Given the description of an element on the screen output the (x, y) to click on. 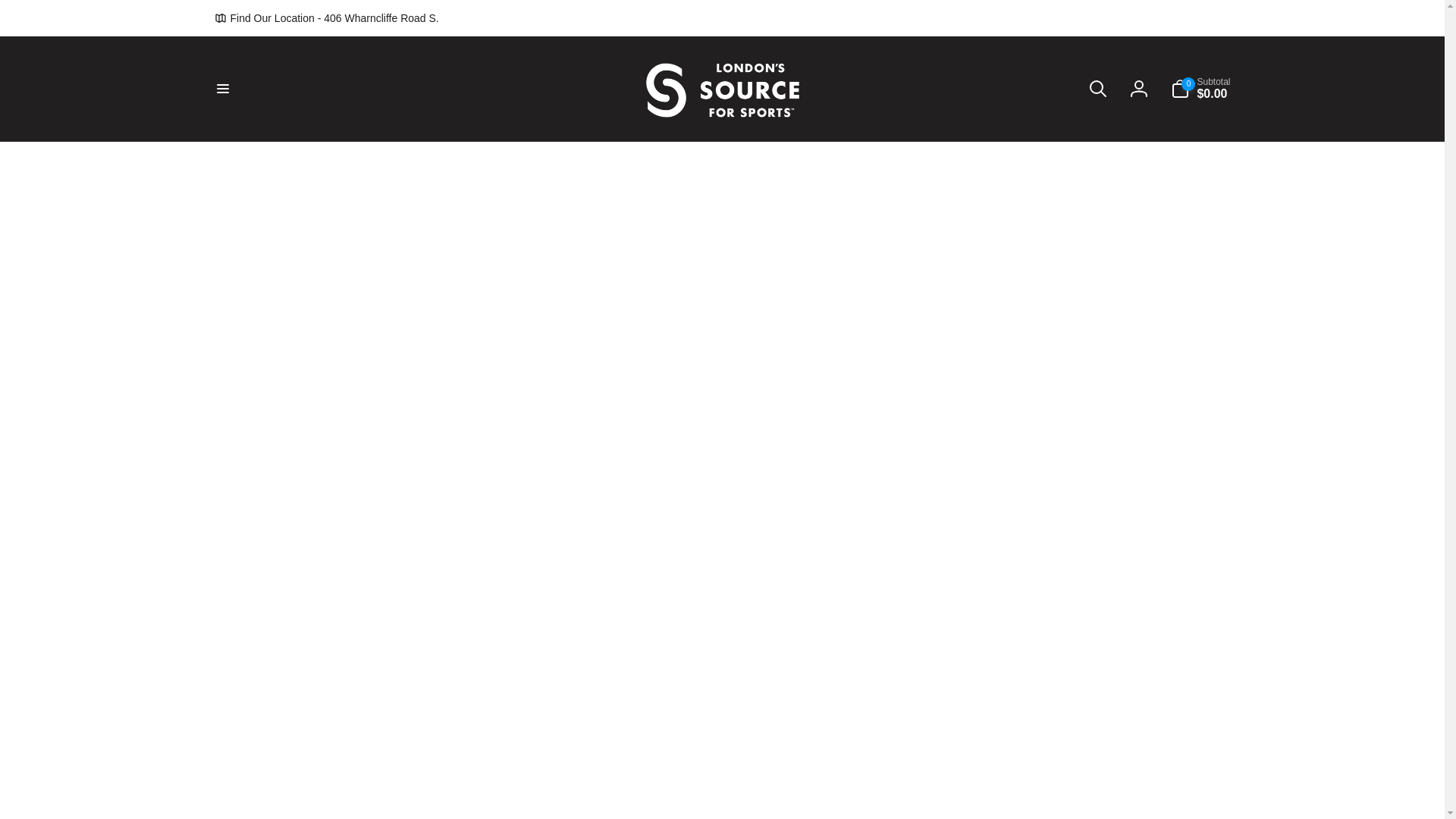
Skip to content (16, 8)
Log in (1139, 88)
Find Our Location - 406 Wharncliffe Road S. (326, 17)
